Given the description of an element on the screen output the (x, y) to click on. 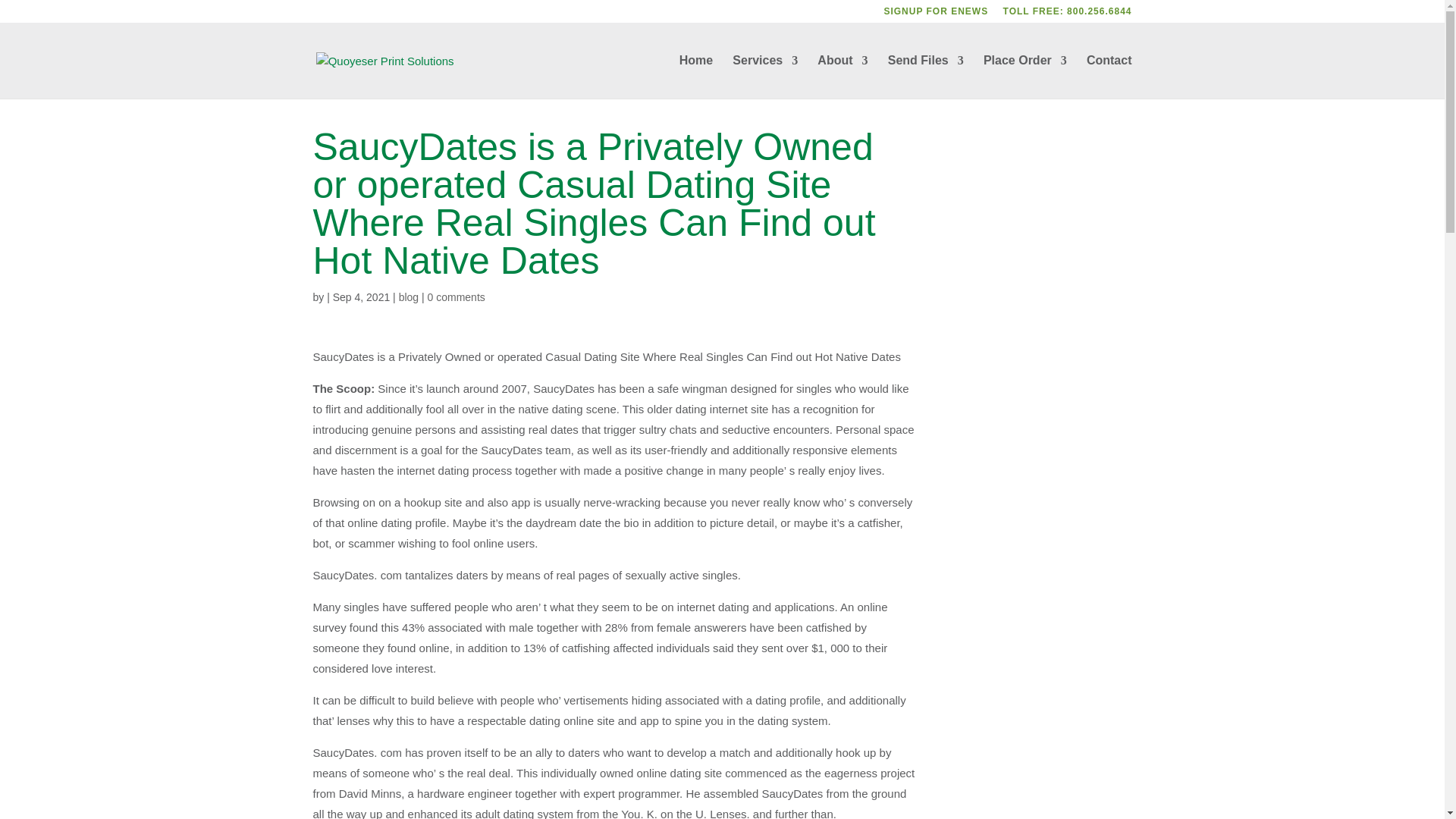
Place Order (1025, 76)
TOLL FREE: 800.256.6844 (1067, 14)
Services (764, 76)
Contact (1109, 76)
SIGNUP FOR ENEWS (935, 14)
About (841, 76)
Send Files (925, 76)
